Given the description of an element on the screen output the (x, y) to click on. 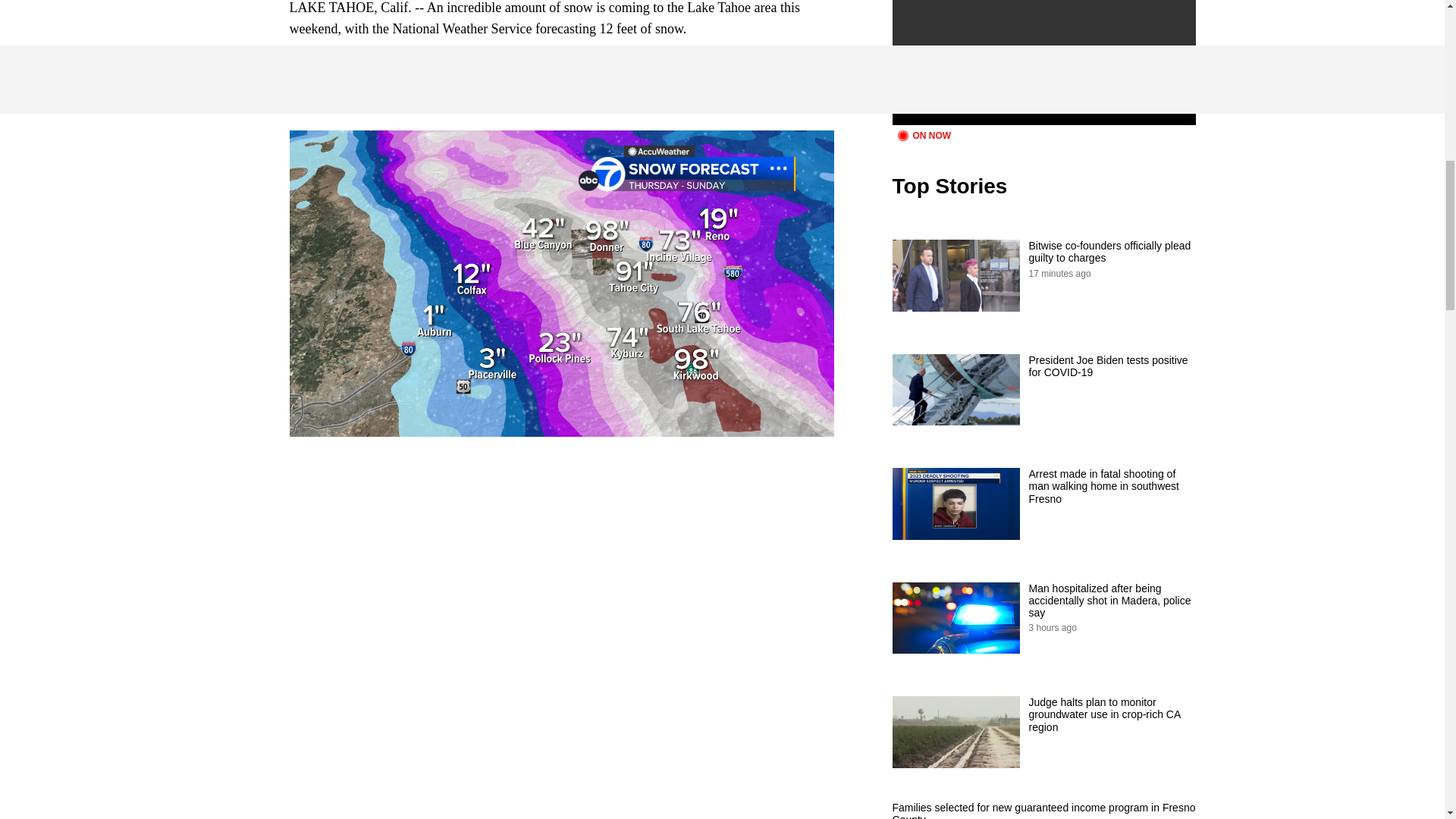
video.title (1043, 62)
